Given the description of an element on the screen output the (x, y) to click on. 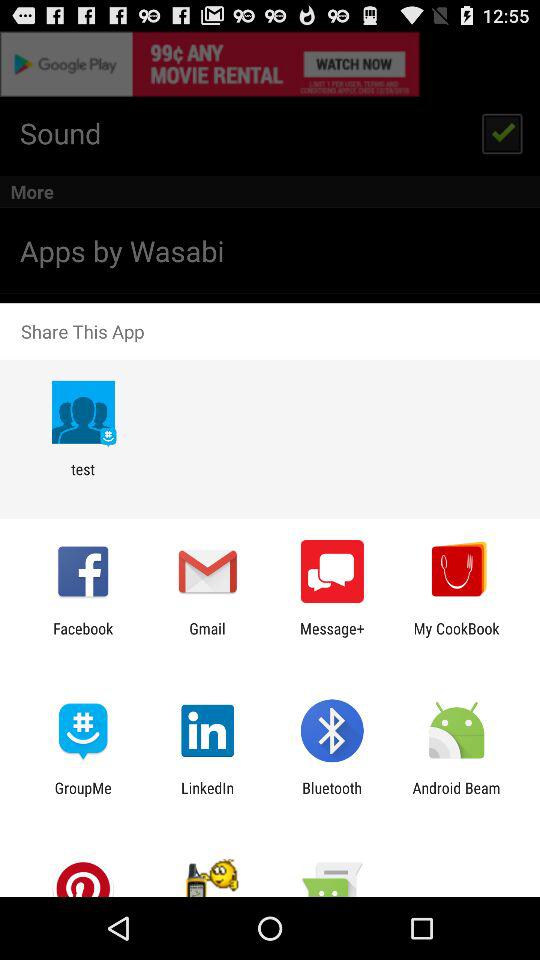
open icon to the right of the groupme item (207, 796)
